Given the description of an element on the screen output the (x, y) to click on. 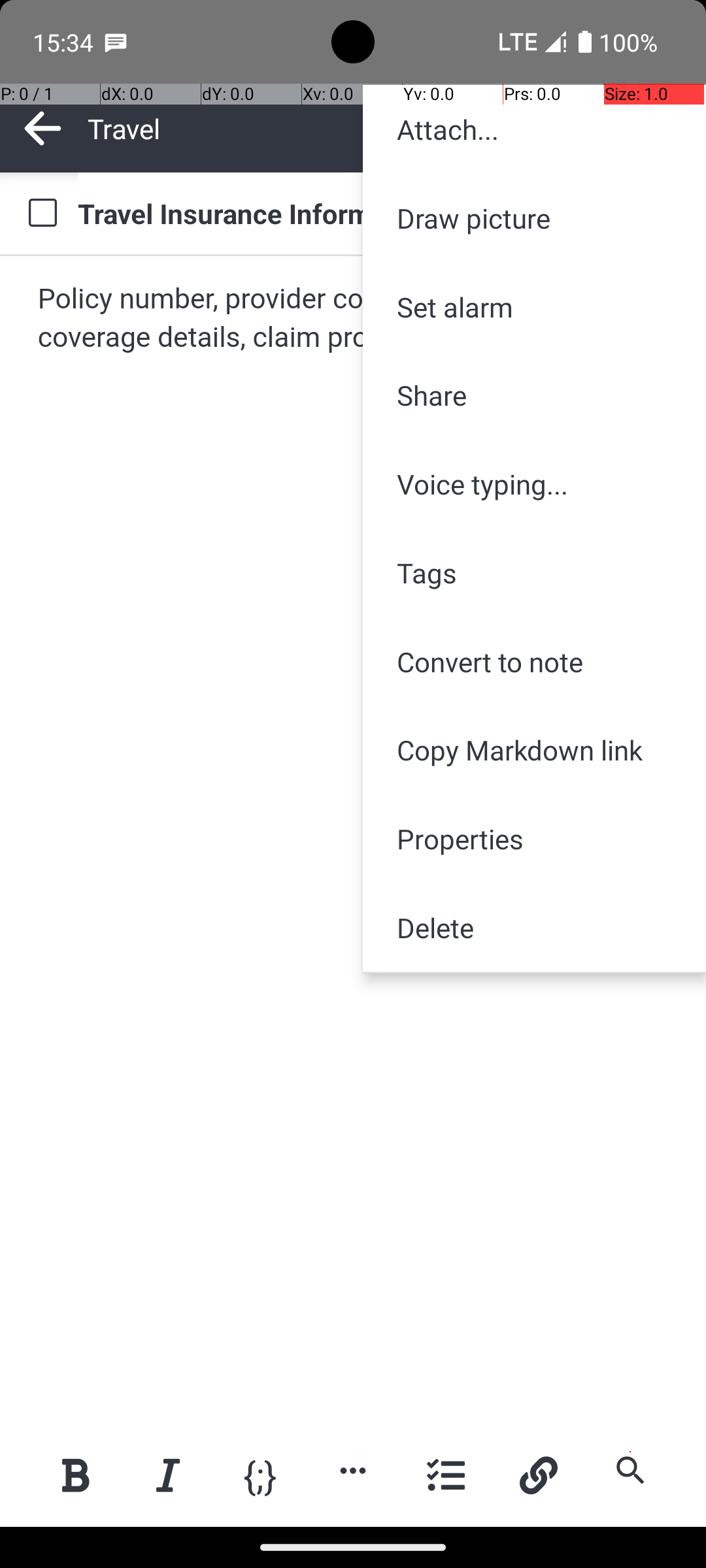
Travel Insurance Information Element type: android.widget.EditText (378, 213)
Attach... Element type: android.widget.TextView (534, 129)
Draw picture Element type: android.widget.TextView (534, 217)
Set alarm Element type: android.widget.TextView (534, 306)
Voice typing... Element type: android.widget.TextView (534, 484)
Convert to note Element type: android.widget.TextView (534, 661)
Copy Markdown link Element type: android.widget.TextView (534, 749)
Properties Element type: android.widget.TextView (534, 838)
Policy number, provider contact information, coverage details, claim procedures. Element type: android.widget.EditText (354, 318)
